Given the description of an element on the screen output the (x, y) to click on. 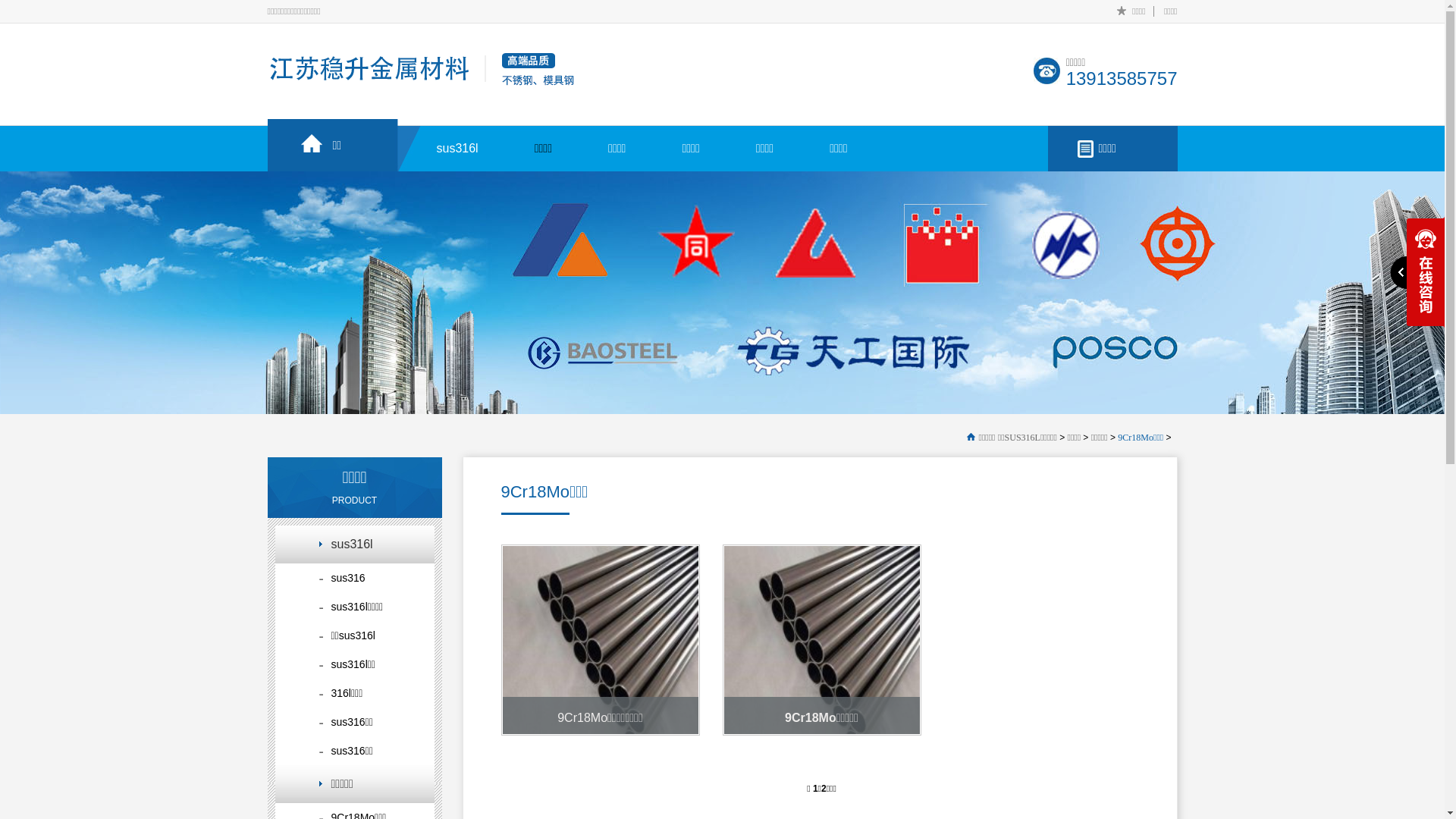
sus316l Element type: text (457, 137)
sus316 Element type: text (353, 577)
  Element type: text (1417, 272)
sus316l Element type: text (353, 544)
